Given the description of an element on the screen output the (x, y) to click on. 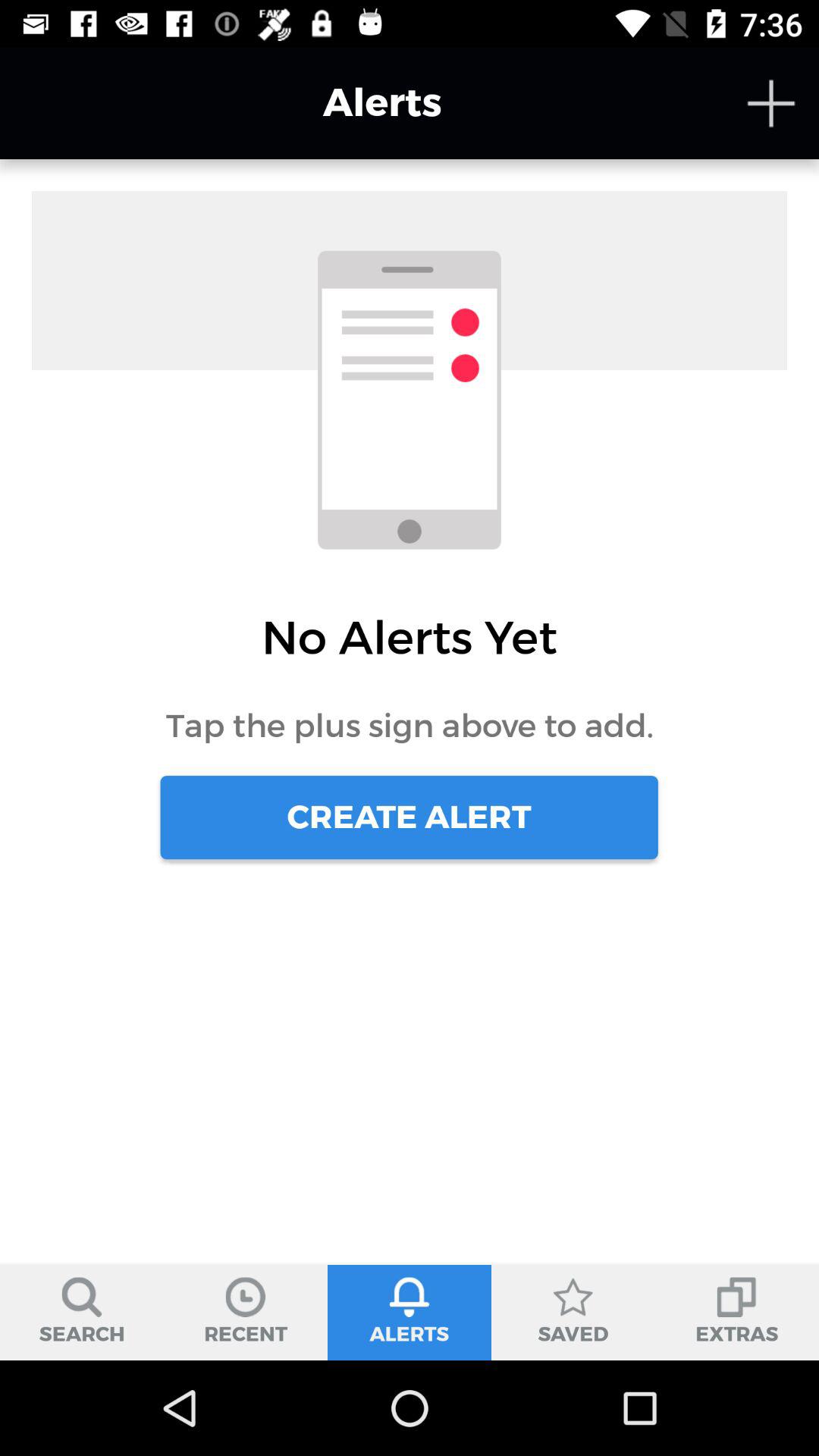
jump to create alert item (409, 817)
